Given the description of an element on the screen output the (x, y) to click on. 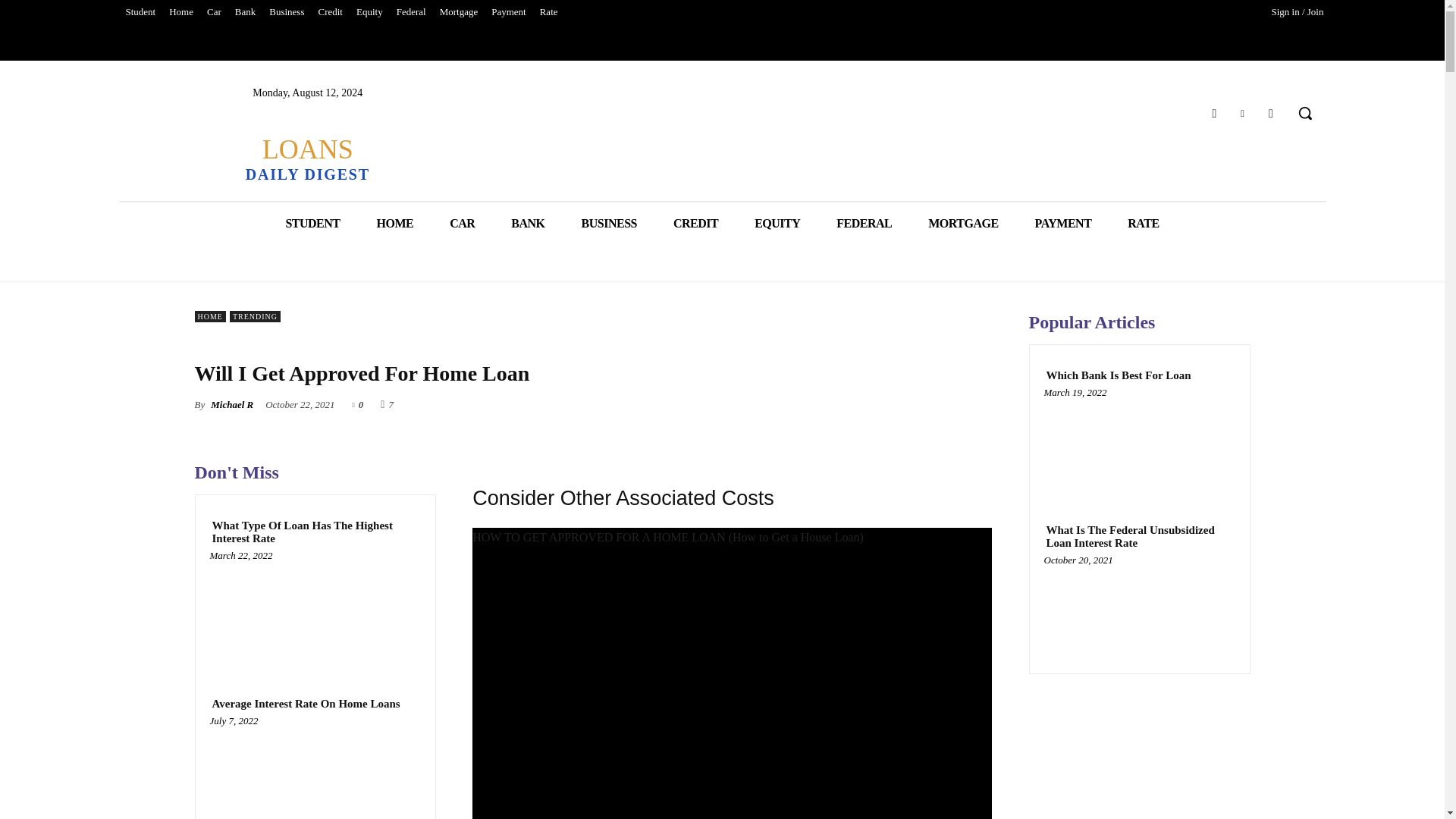
HOME (394, 223)
Mortgage (458, 12)
Payment (508, 12)
What Type Of Loan Has The Highest Interest Rate (314, 531)
Student (139, 12)
CAR (461, 223)
Business (286, 12)
Youtube (1270, 113)
Federal (411, 12)
What Type Of Loan Has The Highest Interest Rate (314, 611)
